Given the description of an element on the screen output the (x, y) to click on. 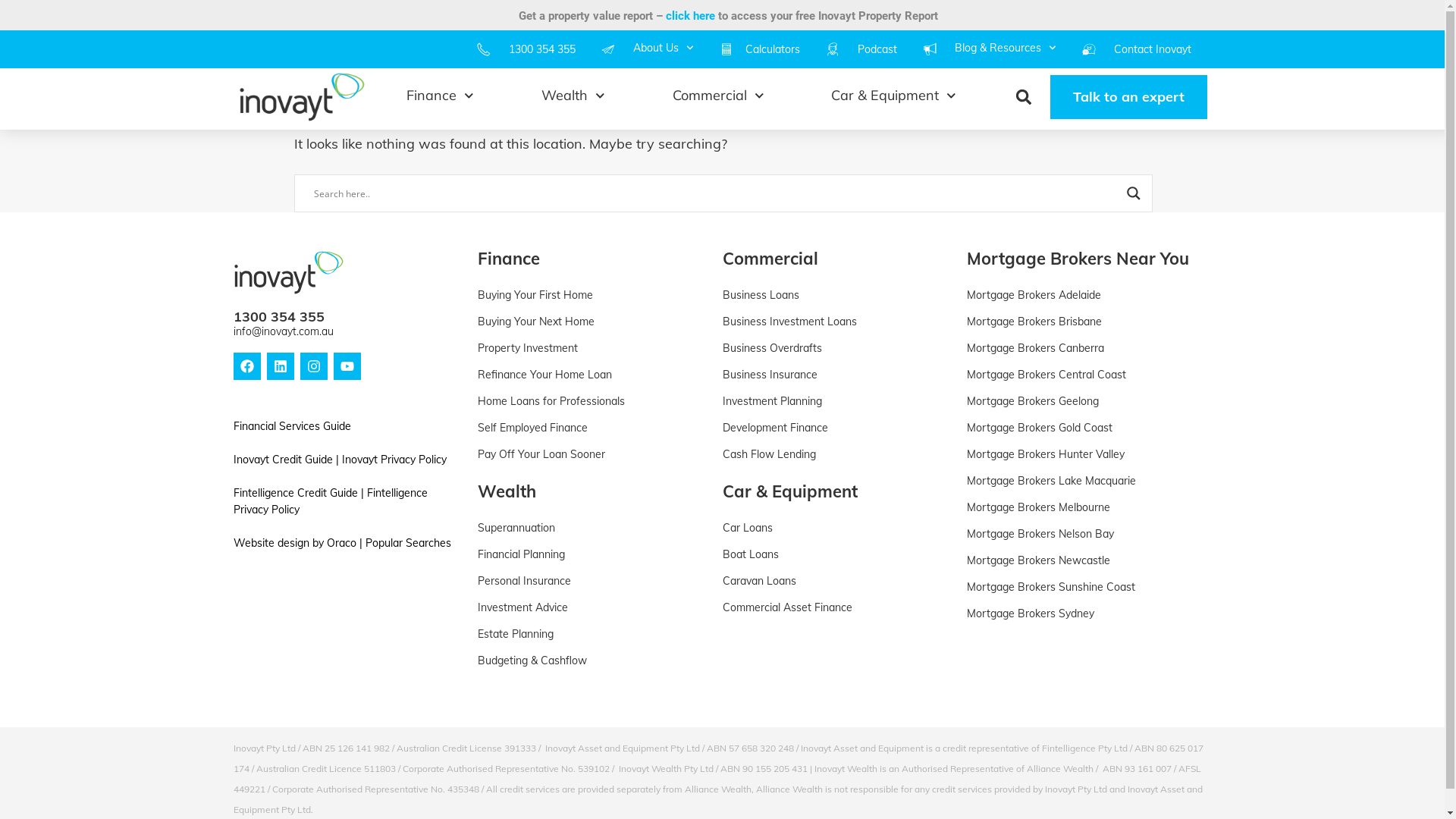
Wealth Element type: text (573, 95)
Talk to an expert Element type: text (1128, 97)
Pay Off Your Loan Sooner Element type: text (592, 454)
Superannuation Element type: text (592, 527)
Commercial Element type: text (717, 95)
Mortgage Brokers Sydney Element type: text (1081, 613)
Mortgage Brokers Lake Macquarie Element type: text (1081, 480)
Personal Insurance Element type: text (592, 580)
About Us Element type: text (663, 47)
Development Finance Element type: text (836, 427)
Boat Loans Element type: text (836, 554)
Mortgage Brokers Newcastle Element type: text (1081, 560)
Financial Planning Element type: text (592, 554)
Home Loans for Professionals Element type: text (592, 401)
Business Overdrafts Element type: text (836, 348)
click here Element type: text (690, 15)
Popular Searches Element type: text (408, 542)
Car & Equipment Element type: text (893, 95)
Calculators Element type: text (772, 49)
Commercial Element type: text (769, 258)
Mortgage Brokers Hunter Valley Element type: text (1081, 454)
Commercial Asset Finance Element type: text (836, 607)
Website design by Oraco Element type: text (294, 542)
Caravan Loans Element type: text (836, 580)
Budgeting & Cashflow Element type: text (592, 660)
Mortgage Brokers Melbourne Element type: text (1081, 507)
1300 354 355 Element type: text (278, 316)
Business Loans Element type: text (836, 295)
Mortgage Brokers Central Coast Element type: text (1081, 374)
Fintelligence Credit Guide Element type: text (295, 491)
Blog & Resources Element type: text (1005, 47)
Buying Your First Home Element type: text (592, 295)
Finance Element type: text (508, 258)
Finance Element type: text (440, 95)
Mortgage Brokers Canberra Element type: text (1081, 348)
info@inovayt.com.au Element type: text (283, 331)
Mortgage Brokers Adelaide Element type: text (1081, 295)
Refinance Your Home Loan Element type: text (592, 374)
1300 354 355 Element type: text (542, 49)
Cash Flow Lending Element type: text (836, 454)
Car Loans Element type: text (836, 527)
Financial Services Guide Element type: text (292, 425)
Mortgage Brokers Near You Element type: text (1077, 258)
Business Investment Loans Element type: text (836, 321)
Fintelligence Privacy Policy Element type: text (330, 500)
Contact Inovayt Element type: text (1152, 49)
Inovayt Credit Guide Element type: text (282, 458)
Property Investment Element type: text (592, 348)
Mortgage Brokers Nelson Bay Element type: text (1081, 533)
Estate Planning Element type: text (592, 634)
Podcast Element type: text (876, 49)
Mortgage Brokers Gold Coast Element type: text (1081, 427)
Wealth Element type: text (506, 491)
Mortgage Brokers Brisbane Element type: text (1081, 321)
Investment Planning Element type: text (836, 401)
Self Employed Finance Element type: text (592, 427)
Business Insurance Element type: text (836, 374)
Mortgage Brokers Geelong Element type: text (1081, 401)
Buying Your Next Home Element type: text (592, 321)
Investment Advice Element type: text (592, 607)
Inovayt Privacy Policy Element type: text (393, 458)
Mortgage Brokers Sunshine Coast Element type: text (1081, 587)
Car & Equipment Element type: text (788, 491)
